Given the description of an element on the screen output the (x, y) to click on. 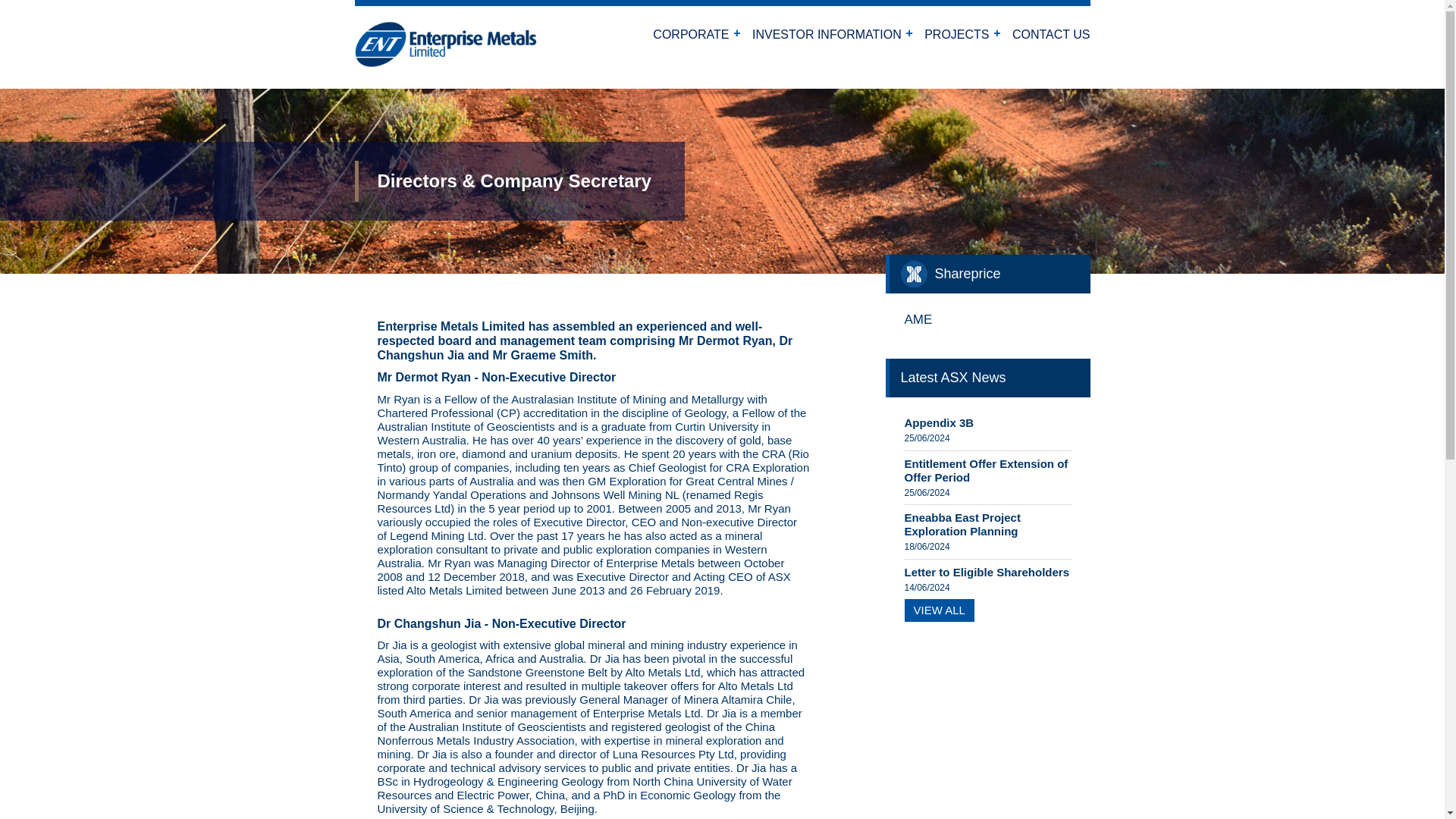
VIEW ALL (939, 609)
PROJECTS (956, 38)
Enterprise Metals - WA Mining Company (446, 58)
Appendix 3B (939, 422)
CORPORATE (690, 38)
Entitlement Offer Extension of Offer Period (985, 470)
Letter to Eligible Shareholders (986, 571)
CONTACT US (1046, 38)
Eneabba East Project Exploration Planning (962, 524)
INVESTOR INFORMATION (826, 38)
